Given the description of an element on the screen output the (x, y) to click on. 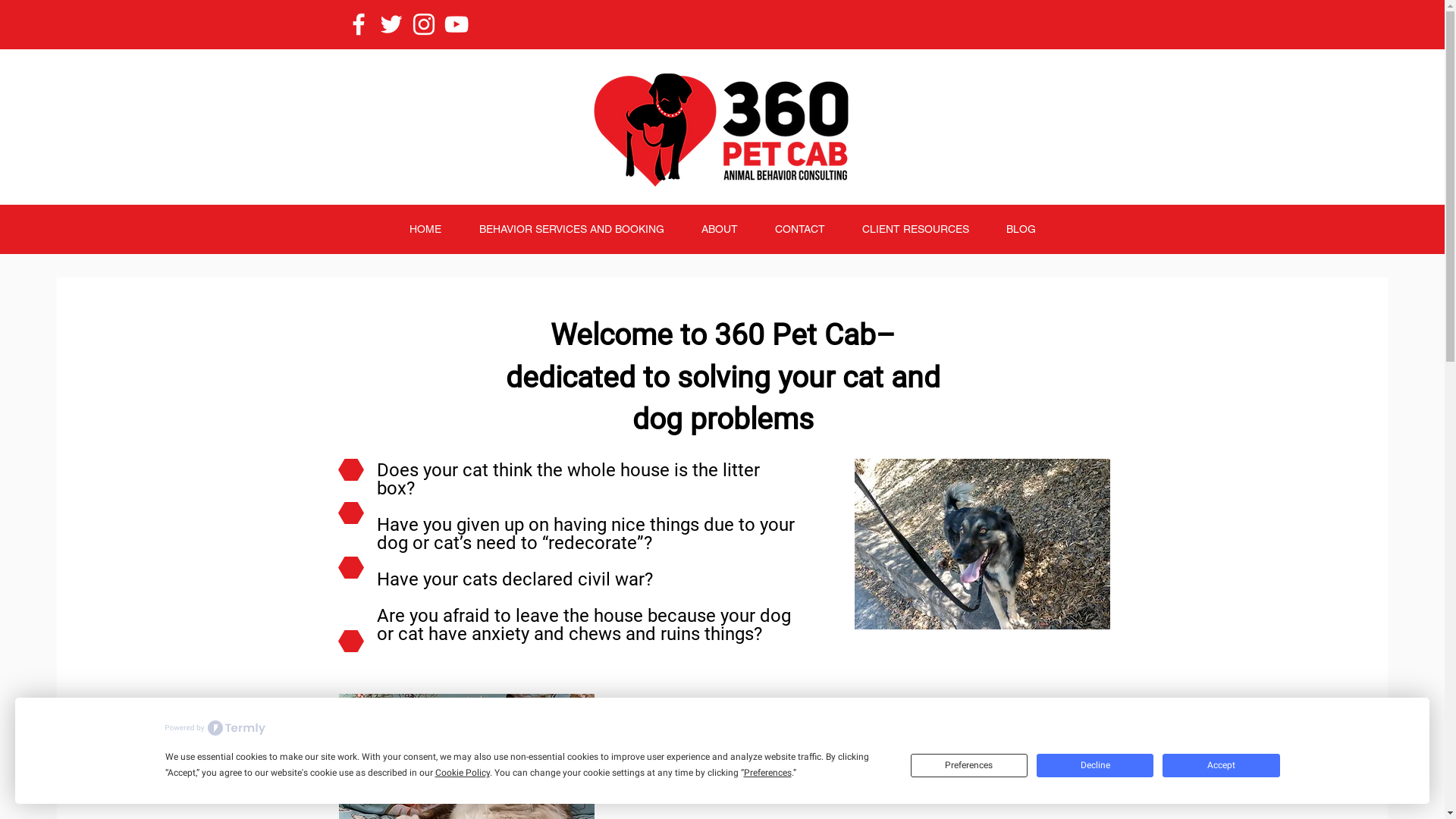
Preferences Element type: text (968, 765)
Accept Element type: text (1220, 765)
HOME Element type: text (424, 228)
CONTACT Element type: text (800, 228)
ABOUT Element type: text (719, 228)
Decline Element type: text (1094, 765)
BEHAVIOR SERVICES AND BOOKING Element type: text (570, 228)
BLOG Element type: text (1020, 228)
